Given the description of an element on the screen output the (x, y) to click on. 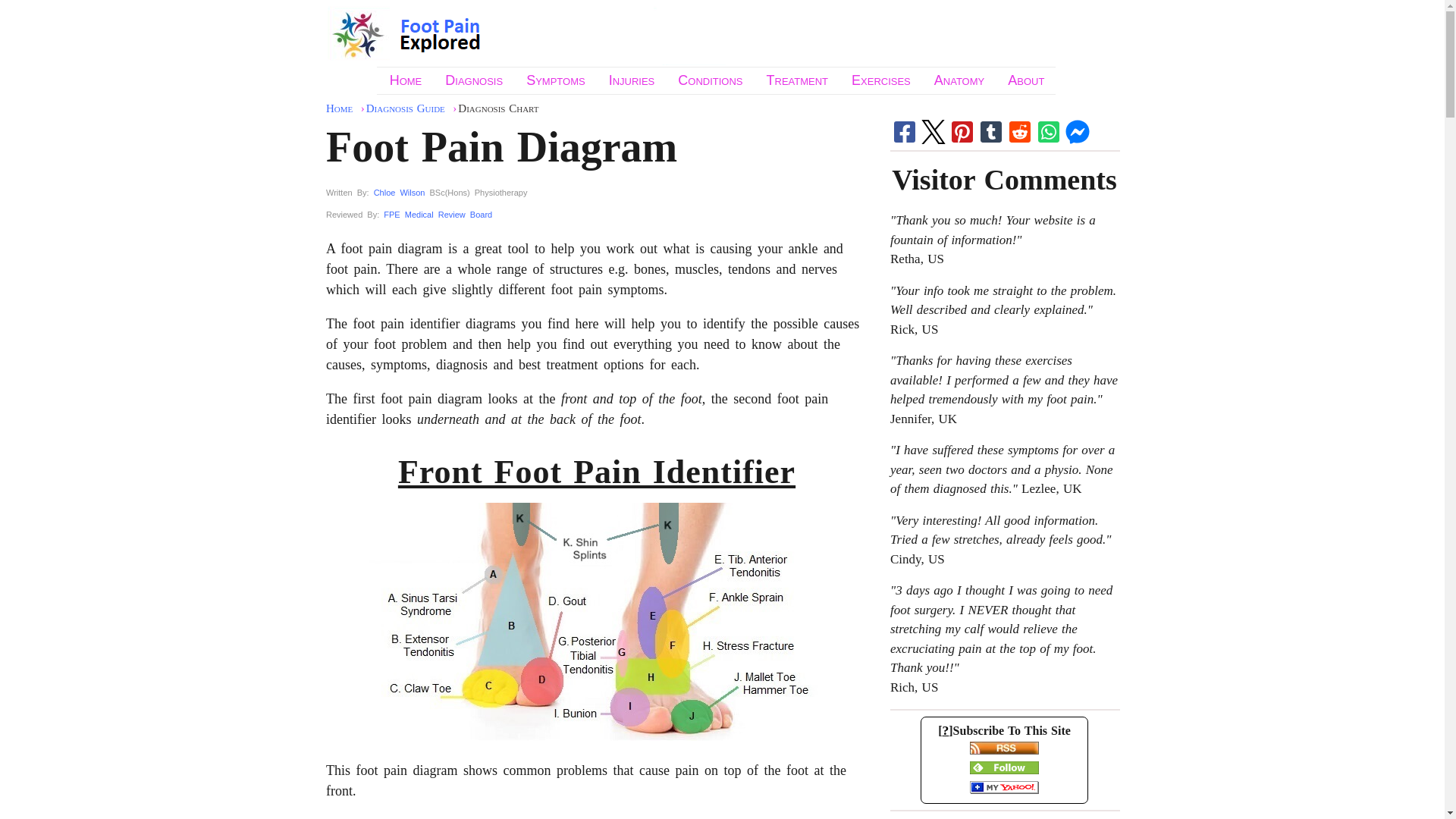
Home (405, 80)
